Given the description of an element on the screen output the (x, y) to click on. 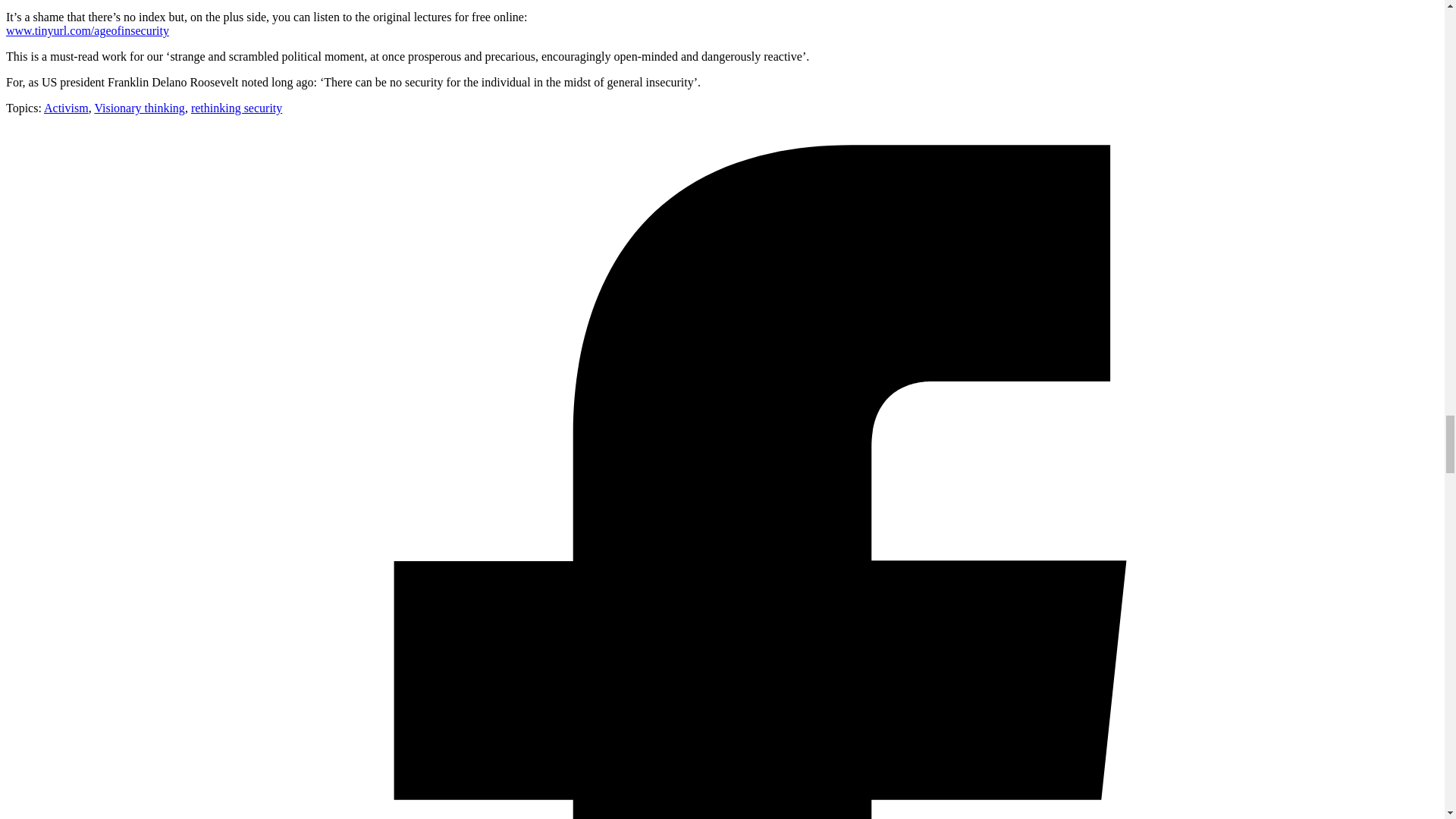
Visionary thinking (139, 107)
rethinking security (236, 107)
Activism (65, 107)
